Given the description of an element on the screen output the (x, y) to click on. 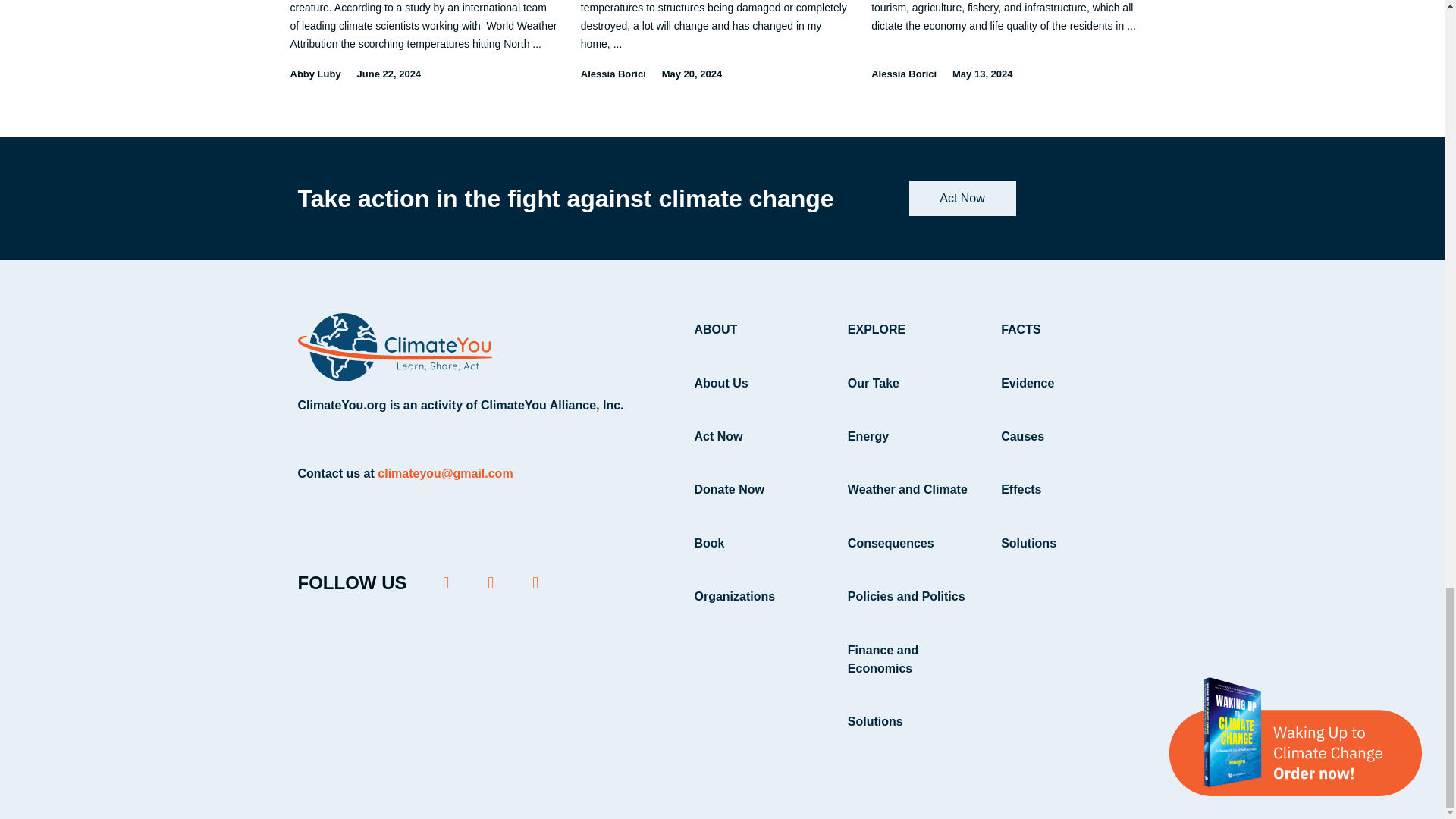
Act Now (961, 198)
footer-logo (394, 346)
